Given the description of an element on the screen output the (x, y) to click on. 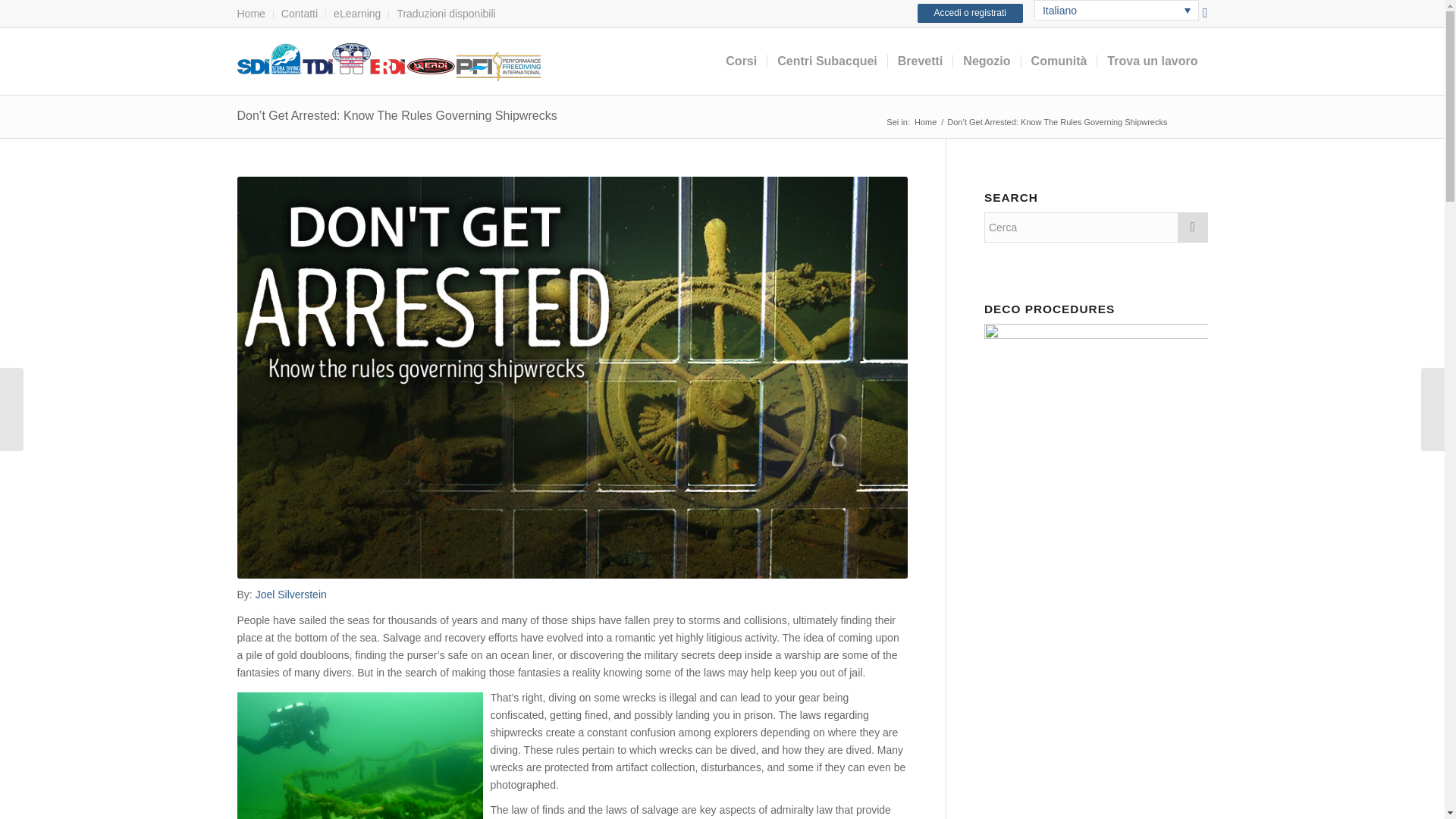
Contatti (299, 13)
header-web-live (387, 61)
Italiano (1115, 10)
Traduzioni disponibili (445, 13)
eLearning (356, 13)
Accedi o registrati (970, 13)
Home (249, 13)
header-web-live (387, 62)
